Given the description of an element on the screen output the (x, y) to click on. 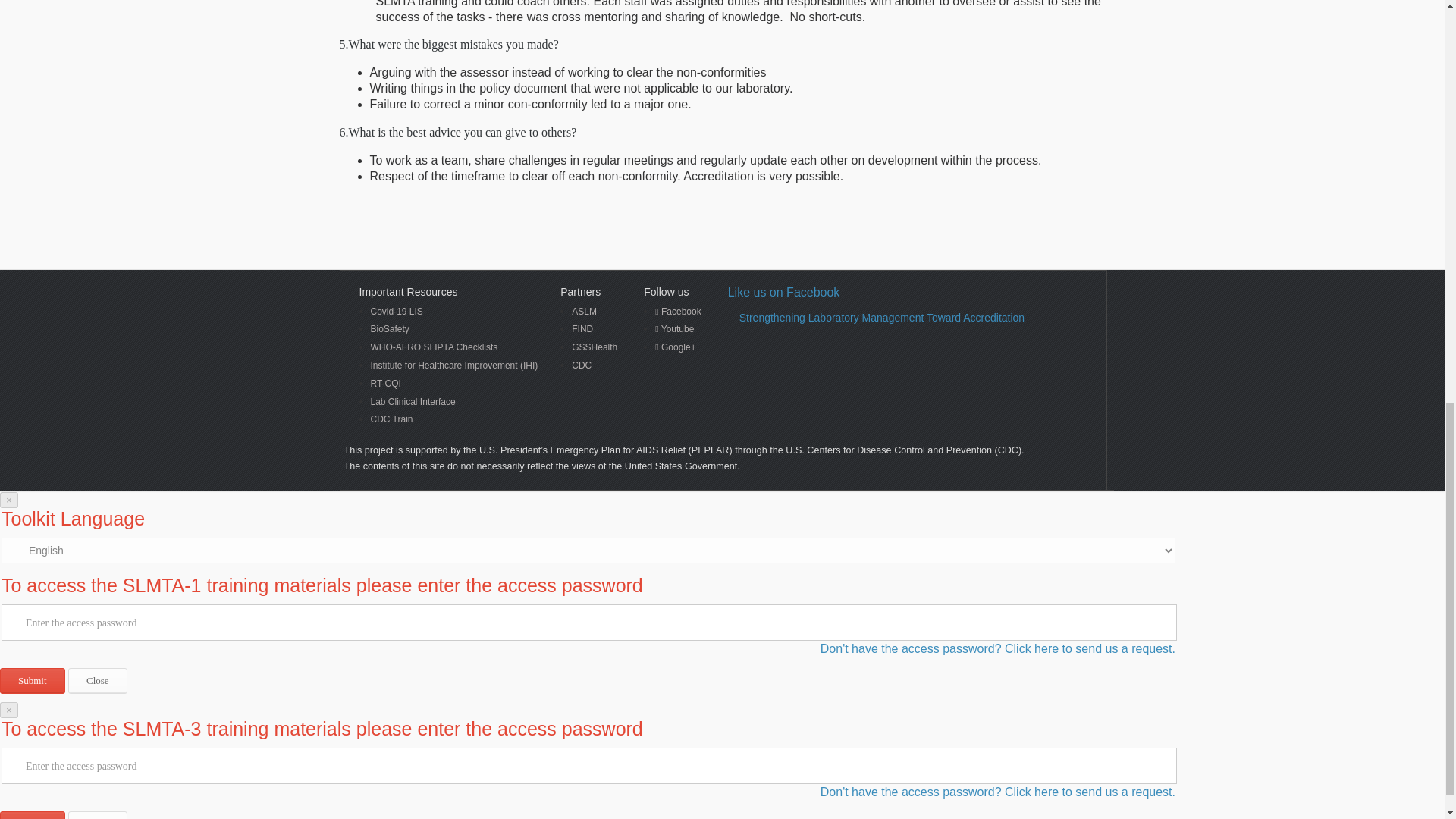
WHO-AFRO SLIPTA Checklists (453, 347)
Lab Clinical Interface (453, 402)
FIND (594, 329)
Like us on Facebook (784, 291)
ASLM (594, 311)
Please enter the access password (588, 622)
Please enter the access password (588, 765)
CDC (594, 365)
RT-CQI (453, 384)
Strengthening Laboratory Management Toward Accreditation (882, 317)
GSSHealth (594, 347)
BioSafety (453, 329)
Youtube (677, 329)
CDC Train (453, 419)
